Given the description of an element on the screen output the (x, y) to click on. 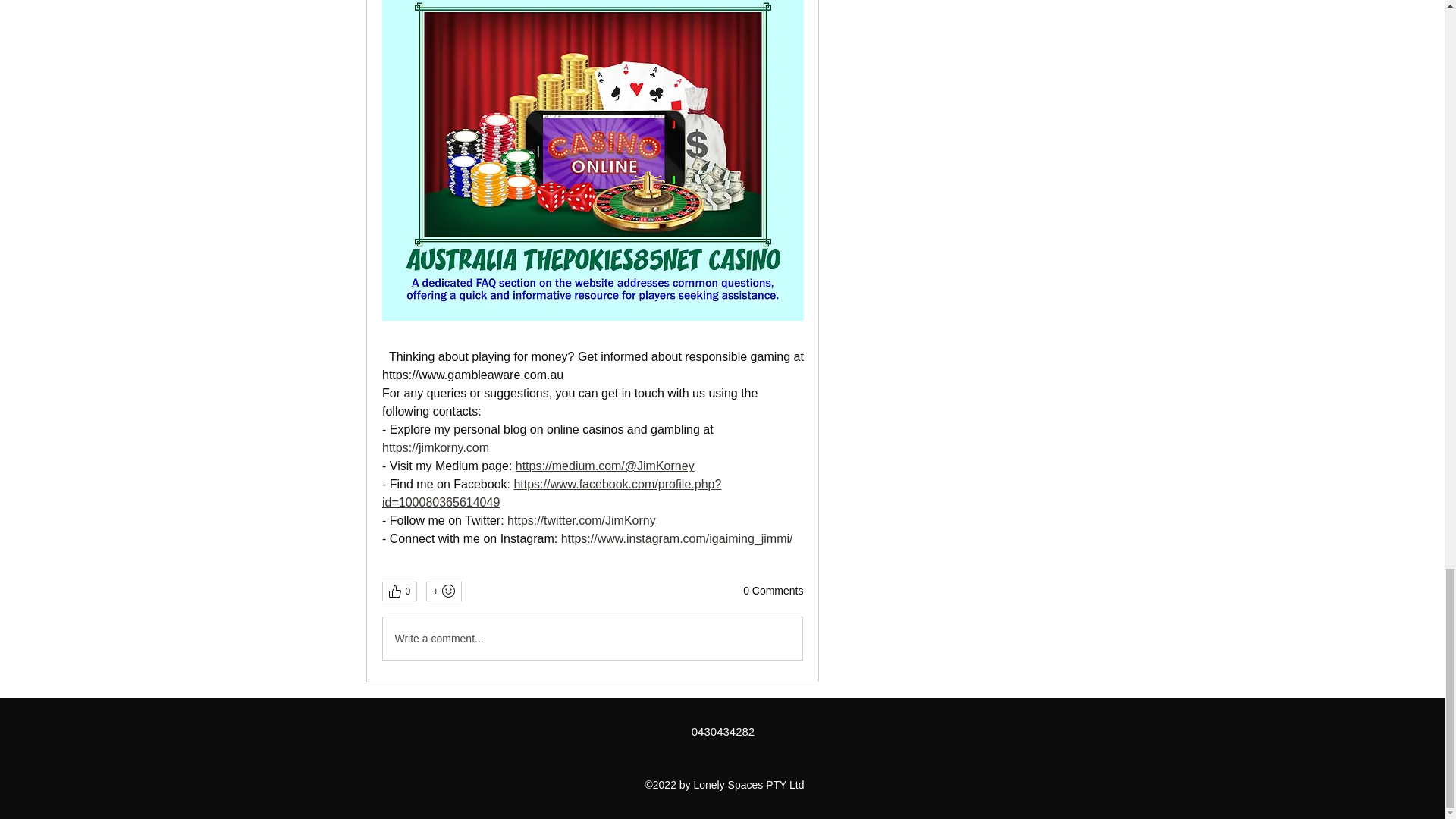
Write a comment... (591, 638)
0 Comments (772, 590)
